Given the description of an element on the screen output the (x, y) to click on. 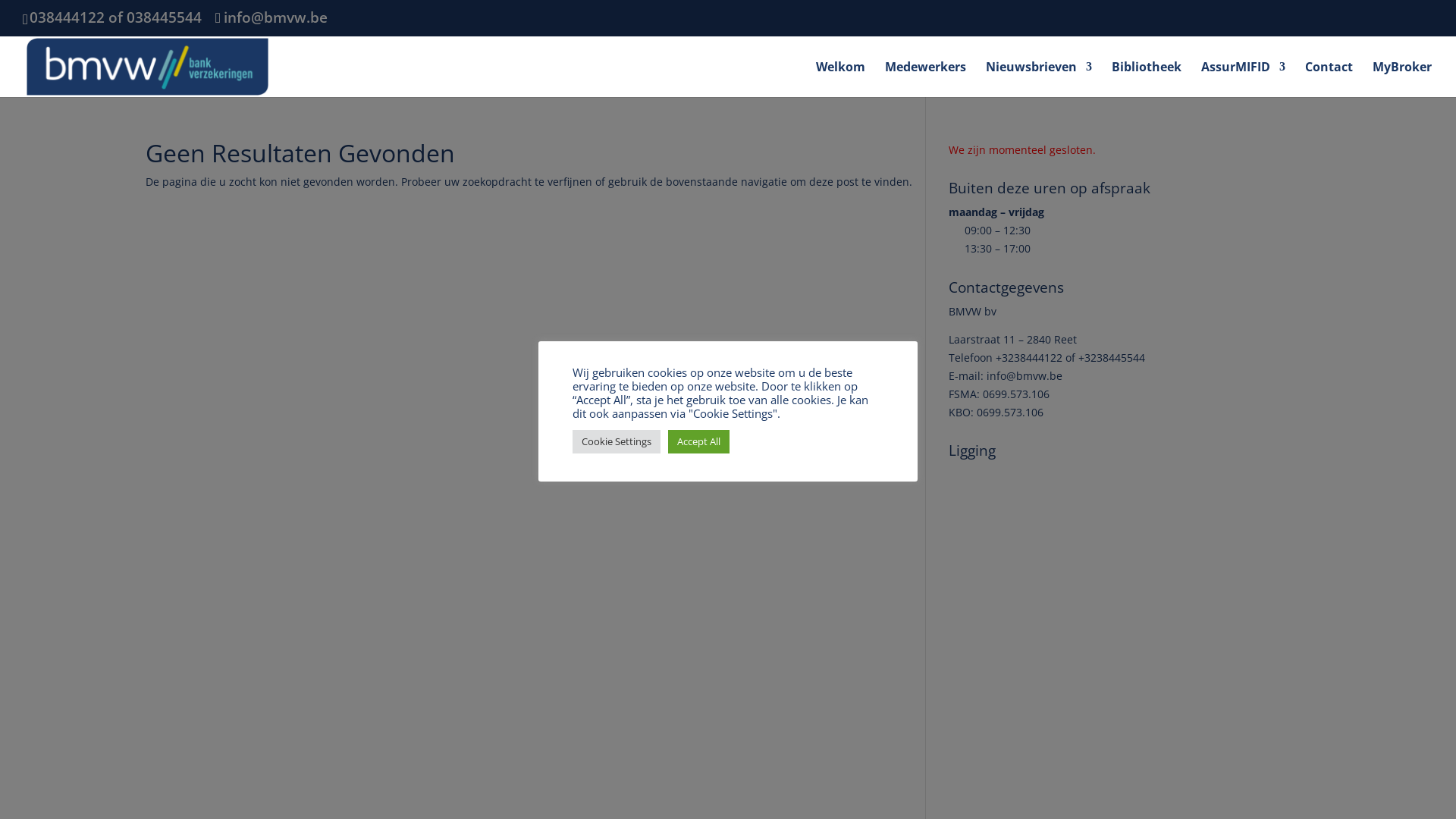
Nieuwsbrieven Element type: text (1038, 78)
Bibliotheek Element type: text (1146, 78)
AssurMIFID Element type: text (1243, 78)
MyBroker Element type: text (1401, 78)
Welkom Element type: text (840, 78)
info@bmvw.be Element type: text (271, 17)
Medewerkers Element type: text (925, 78)
Cookie Settings Element type: text (616, 440)
Contact Element type: text (1328, 78)
Accept All Element type: text (698, 440)
